Given the description of an element on the screen output the (x, y) to click on. 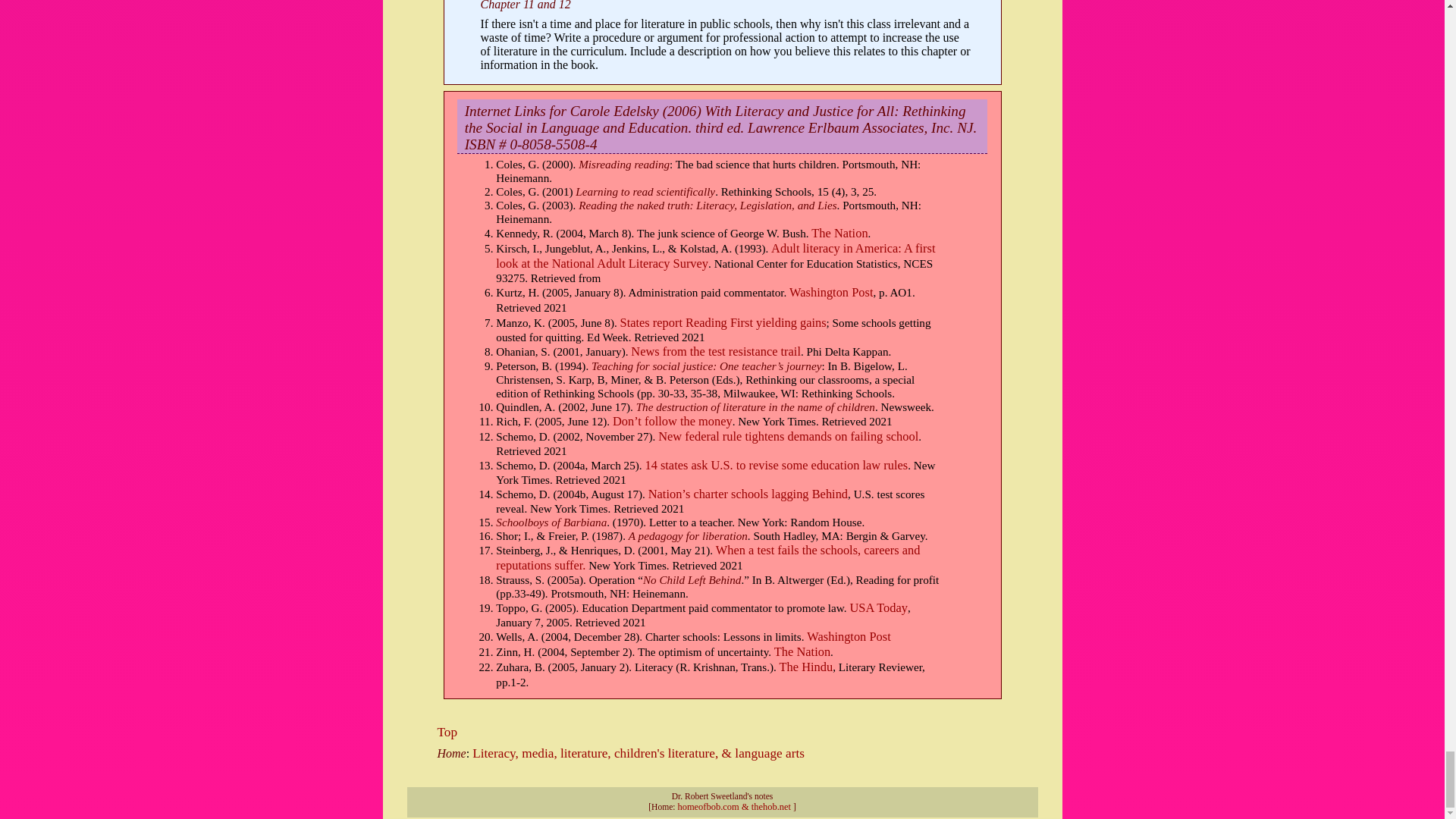
The Nation (838, 233)
States report Reading First yielding gains (723, 322)
Washington Post (830, 292)
News from the test resistance trail (715, 350)
